Given the description of an element on the screen output the (x, y) to click on. 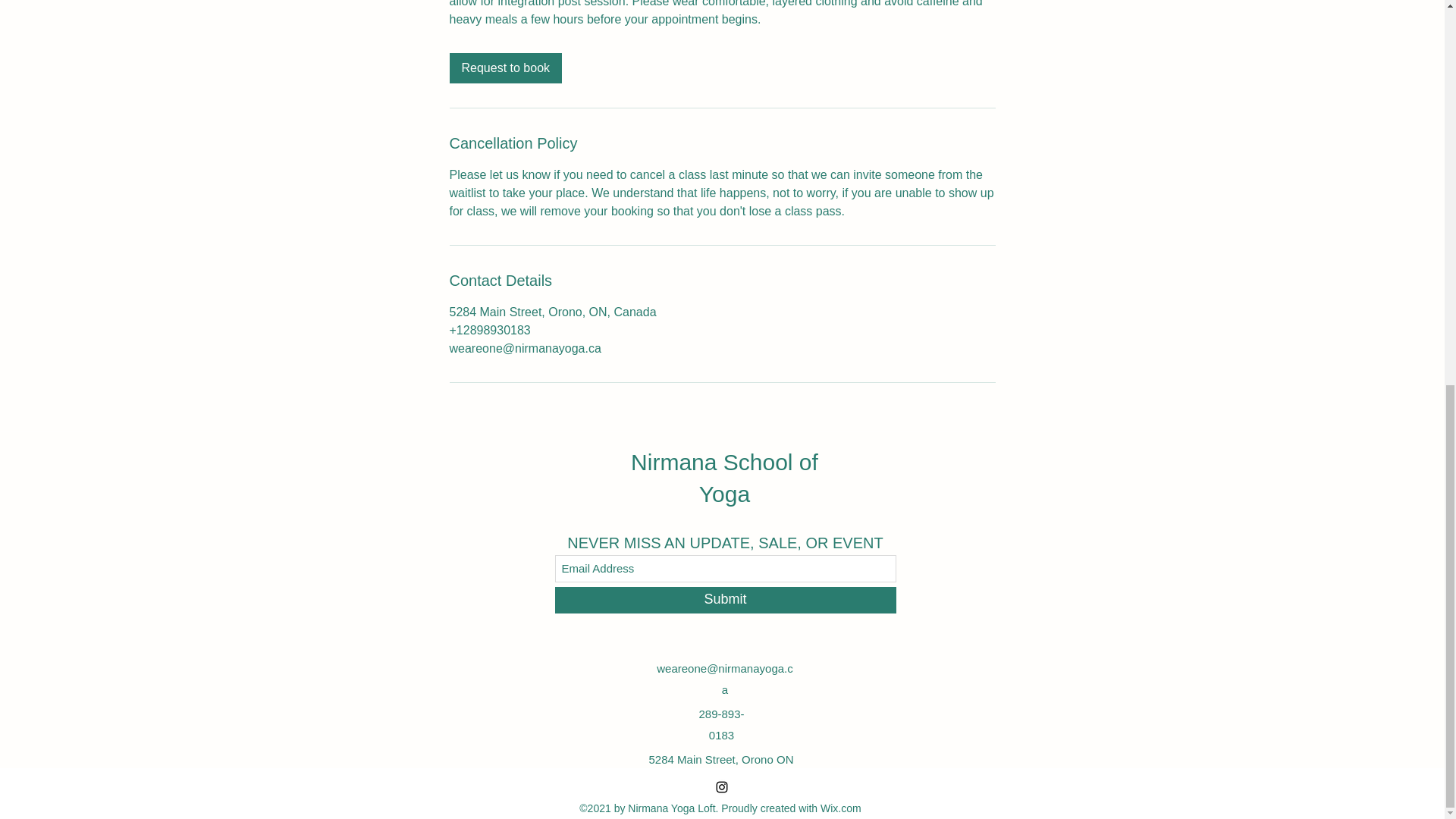
Submit (725, 600)
Nirmana School of Yoga (724, 477)
Request to book (505, 68)
